Given the description of an element on the screen output the (x, y) to click on. 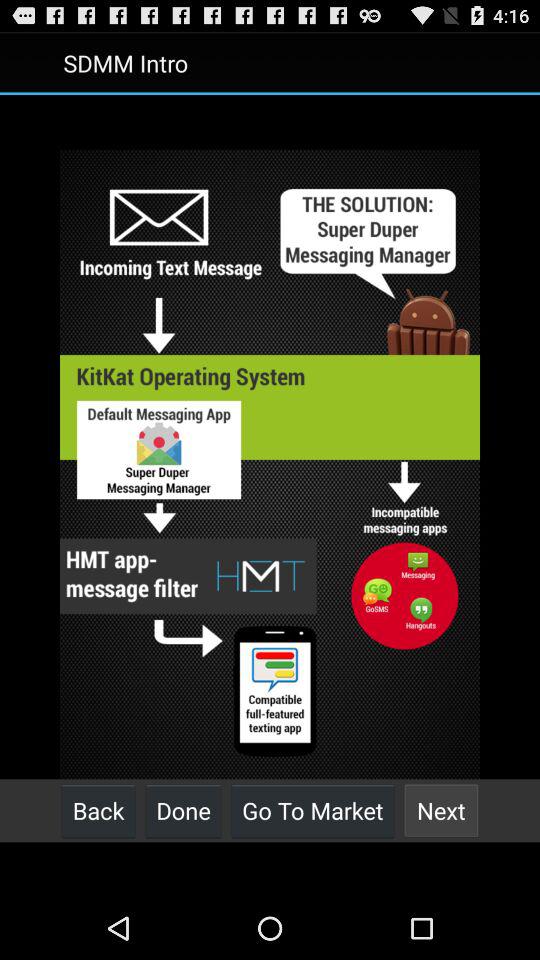
open button to the right of done item (312, 810)
